Given the description of an element on the screen output the (x, y) to click on. 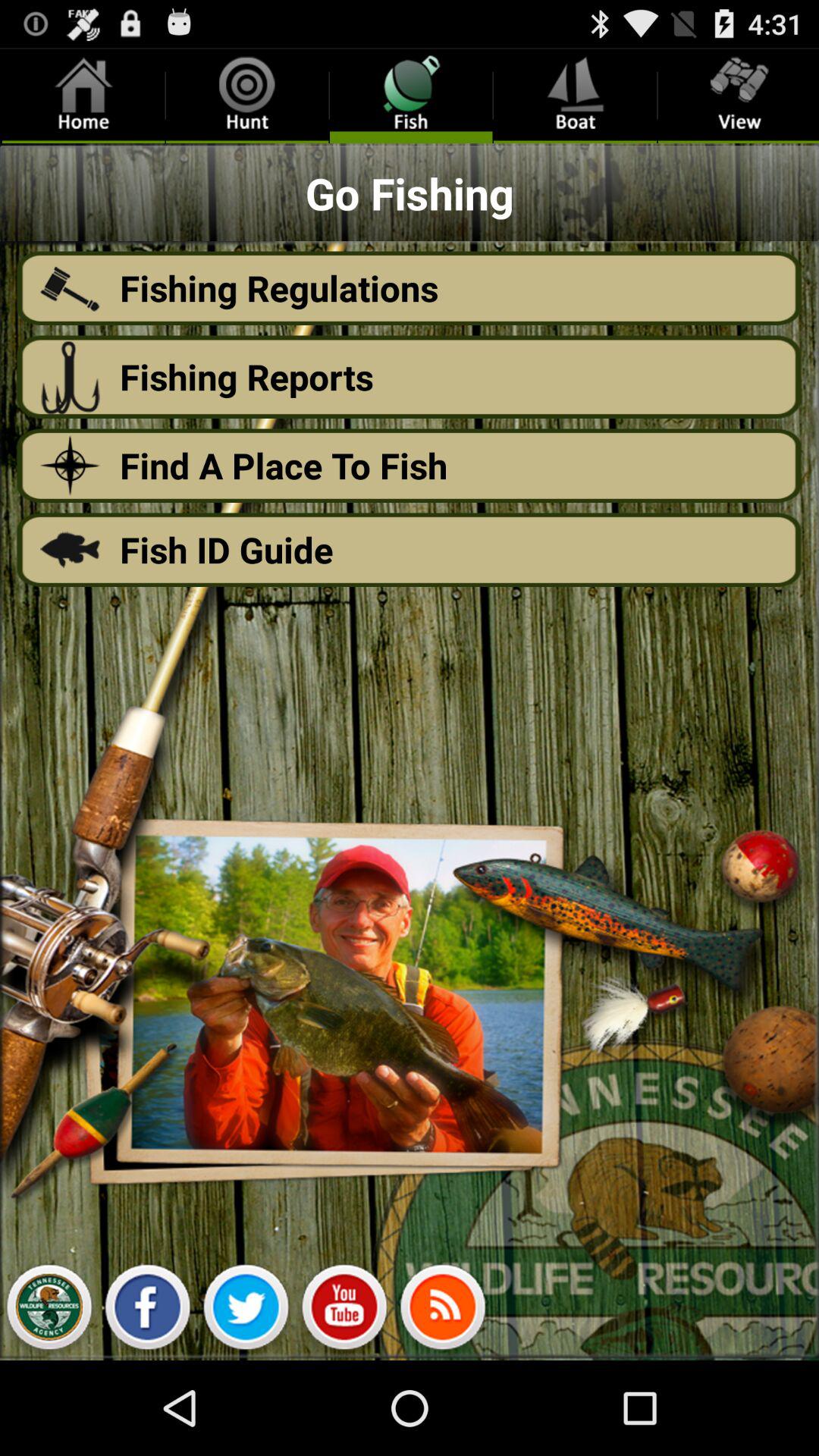
go to twiter (245, 1311)
